Given the description of an element on the screen output the (x, y) to click on. 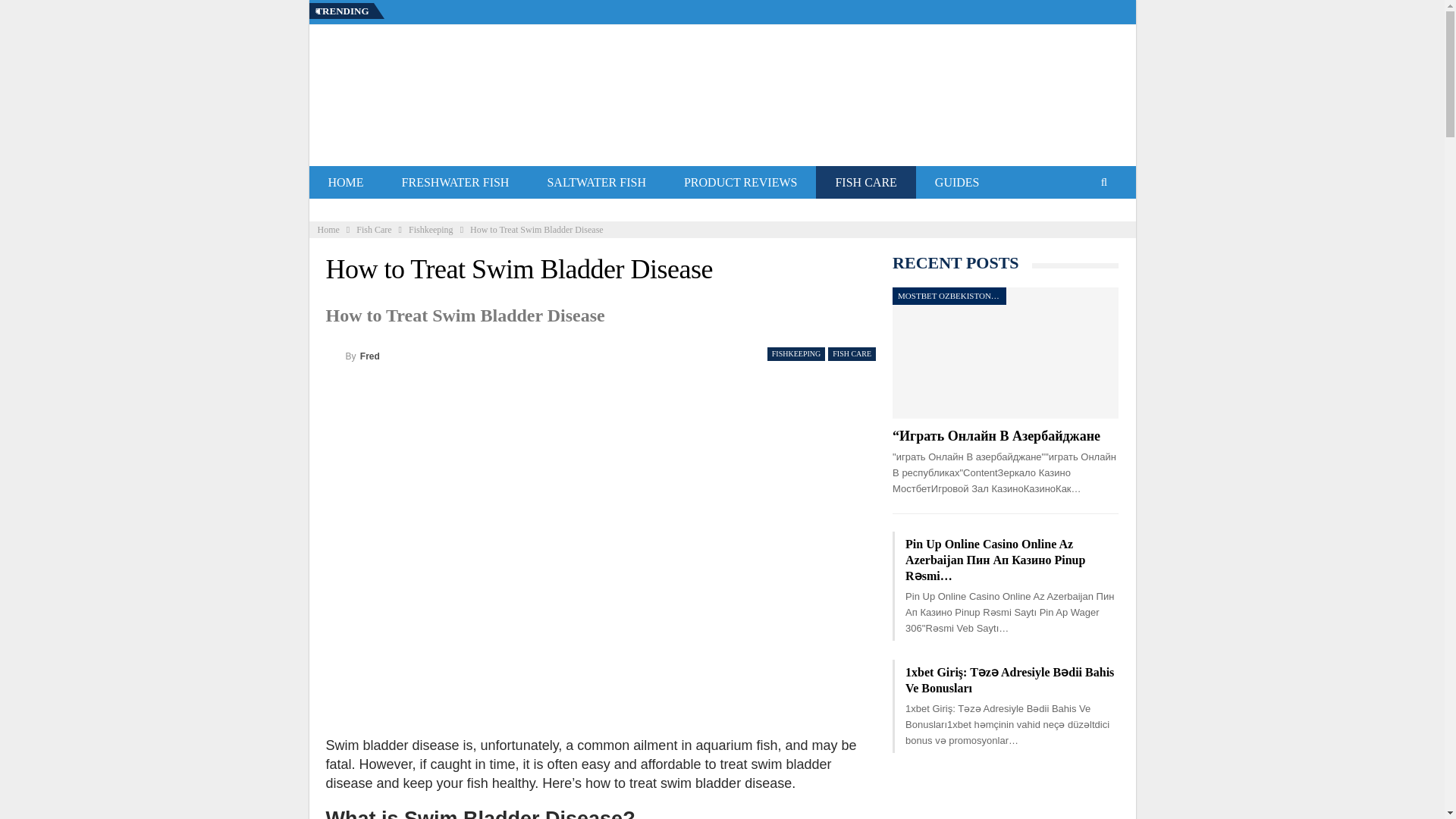
TYPES OF FISH (442, 210)
AQUARIUM (584, 210)
HOME (345, 182)
BETTAS (422, 210)
FISH CARE (865, 182)
GUPPIES (543, 210)
Home (328, 229)
Browse Author Articles (353, 355)
SALTWATER FISH (596, 182)
FISHKEEPING (356, 210)
